Given the description of an element on the screen output the (x, y) to click on. 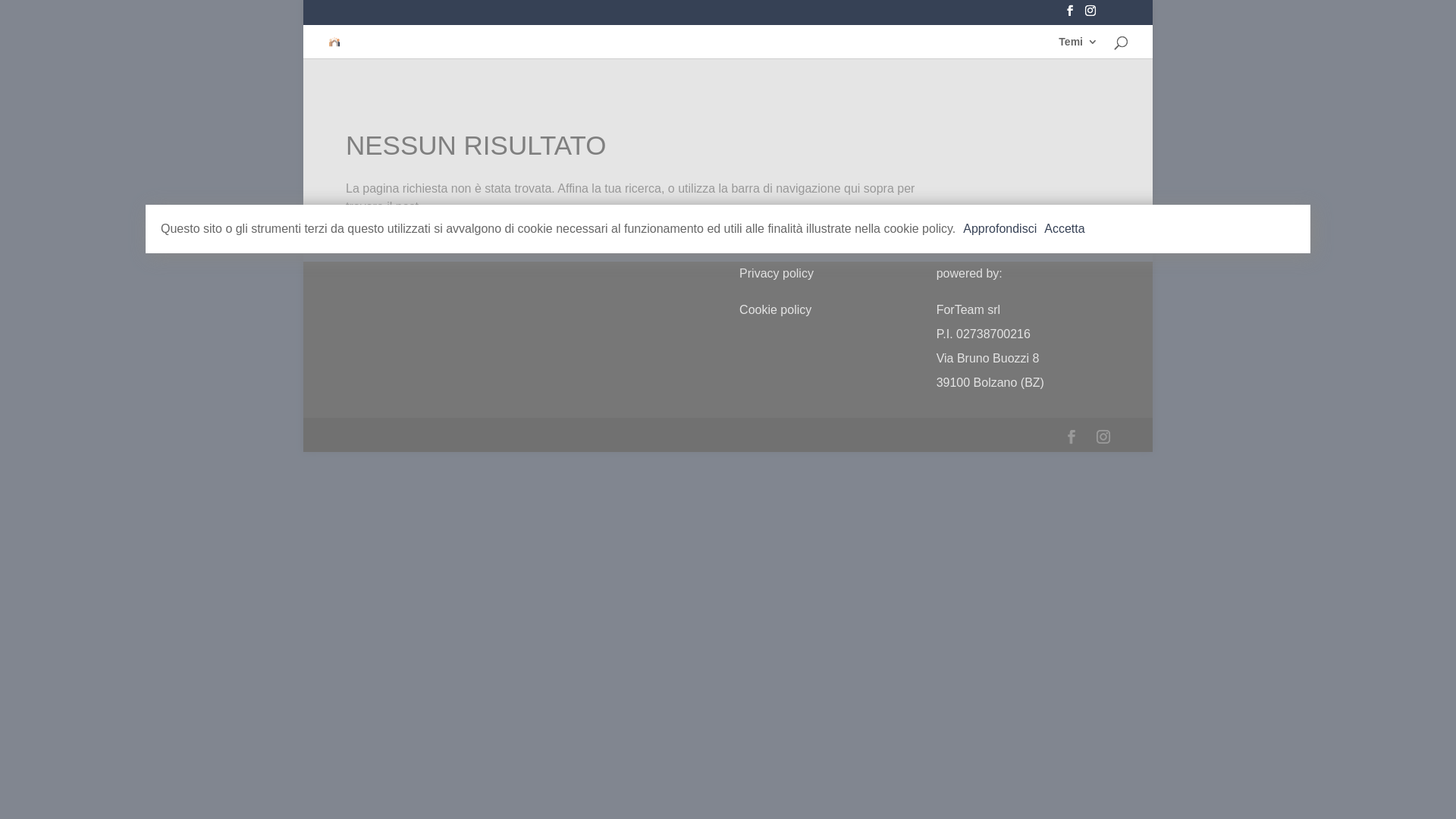
Approfondisci Element type: text (999, 228)
Cookie policy Element type: text (775, 309)
Accetta Element type: text (1064, 228)
Temi Element type: text (1078, 47)
Privacy policy Element type: text (776, 272)
